Given the description of an element on the screen output the (x, y) to click on. 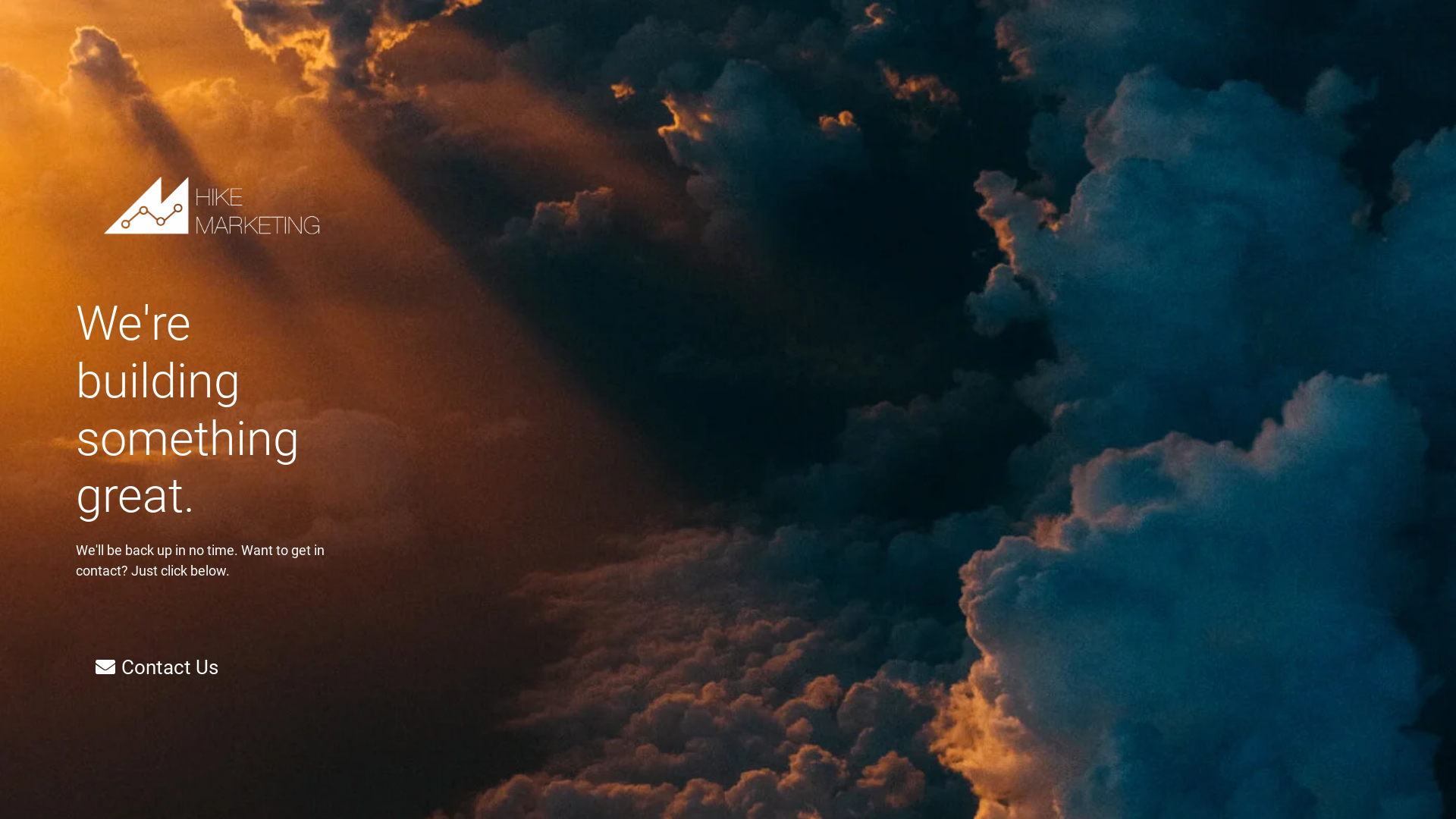
Contact Us Element type: text (156, 666)
